Given the description of an element on the screen output the (x, y) to click on. 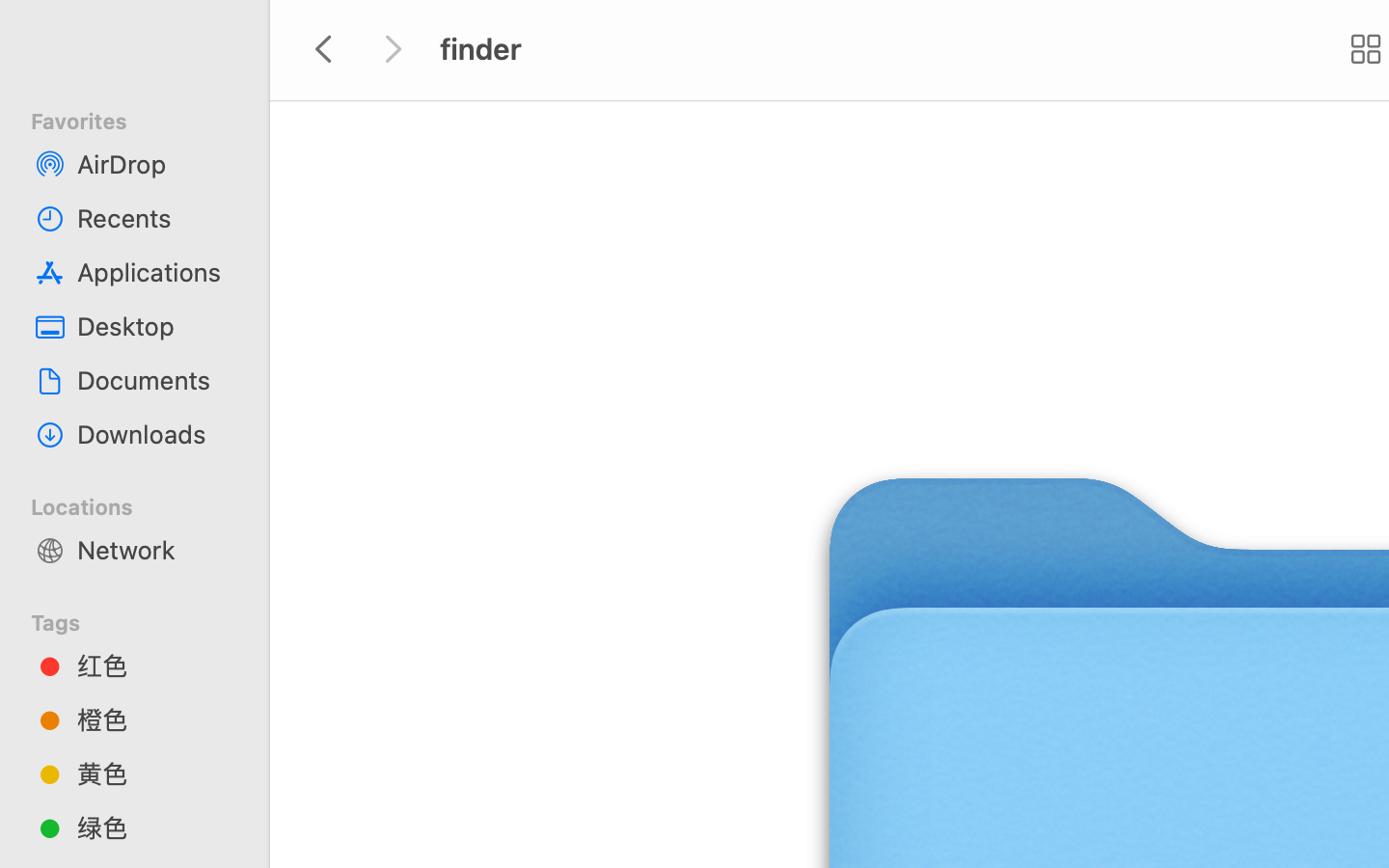
绿色 Element type: AXStaticText (155, 827)
橙色 Element type: AXStaticText (155, 719)
Favorites Element type: AXStaticText (145, 118)
Network Element type: AXStaticText (155, 549)
Desktop Element type: AXStaticText (155, 325)
